Given the description of an element on the screen output the (x, y) to click on. 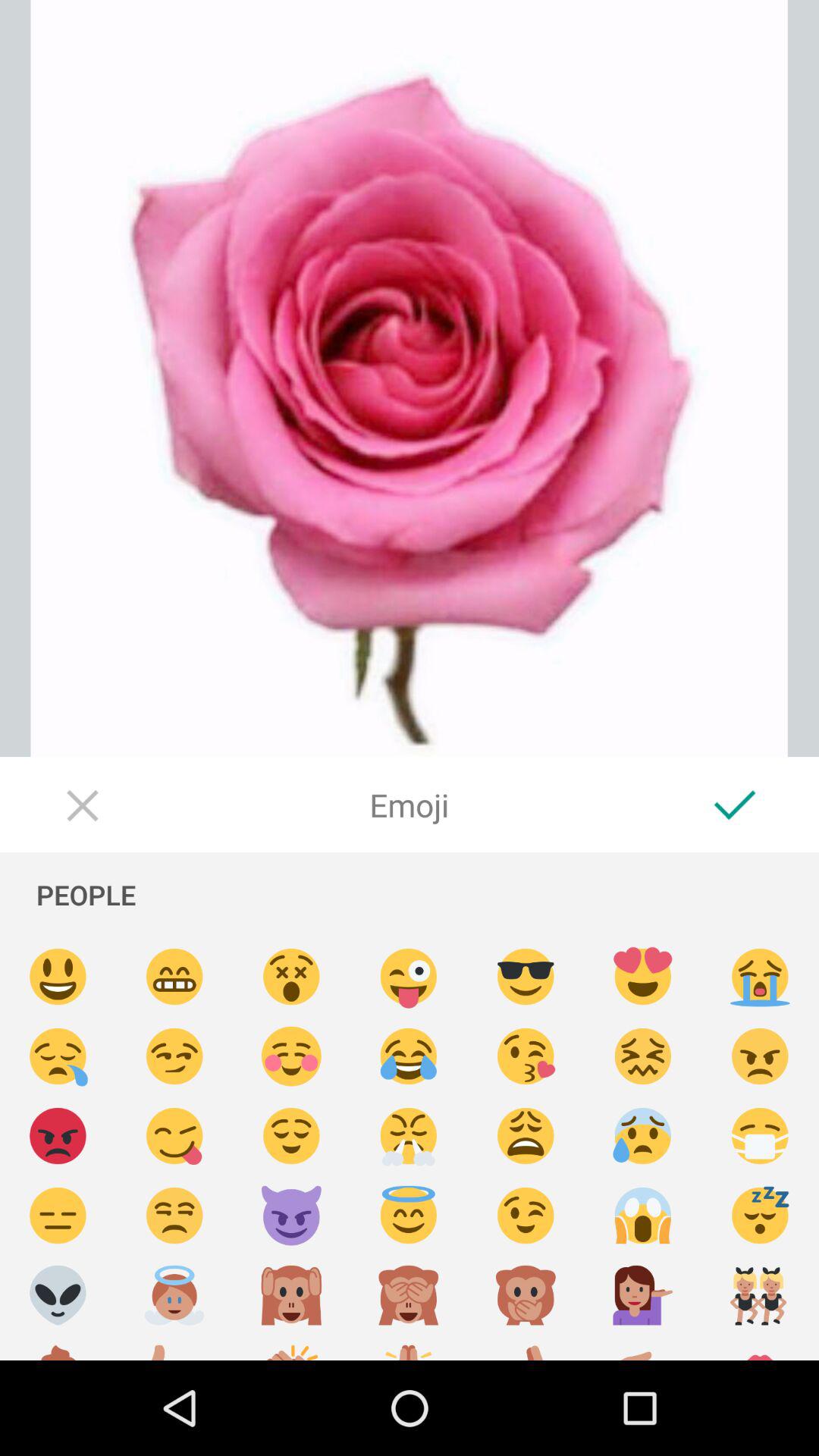
select emoji (174, 1347)
